Given the description of an element on the screen output the (x, y) to click on. 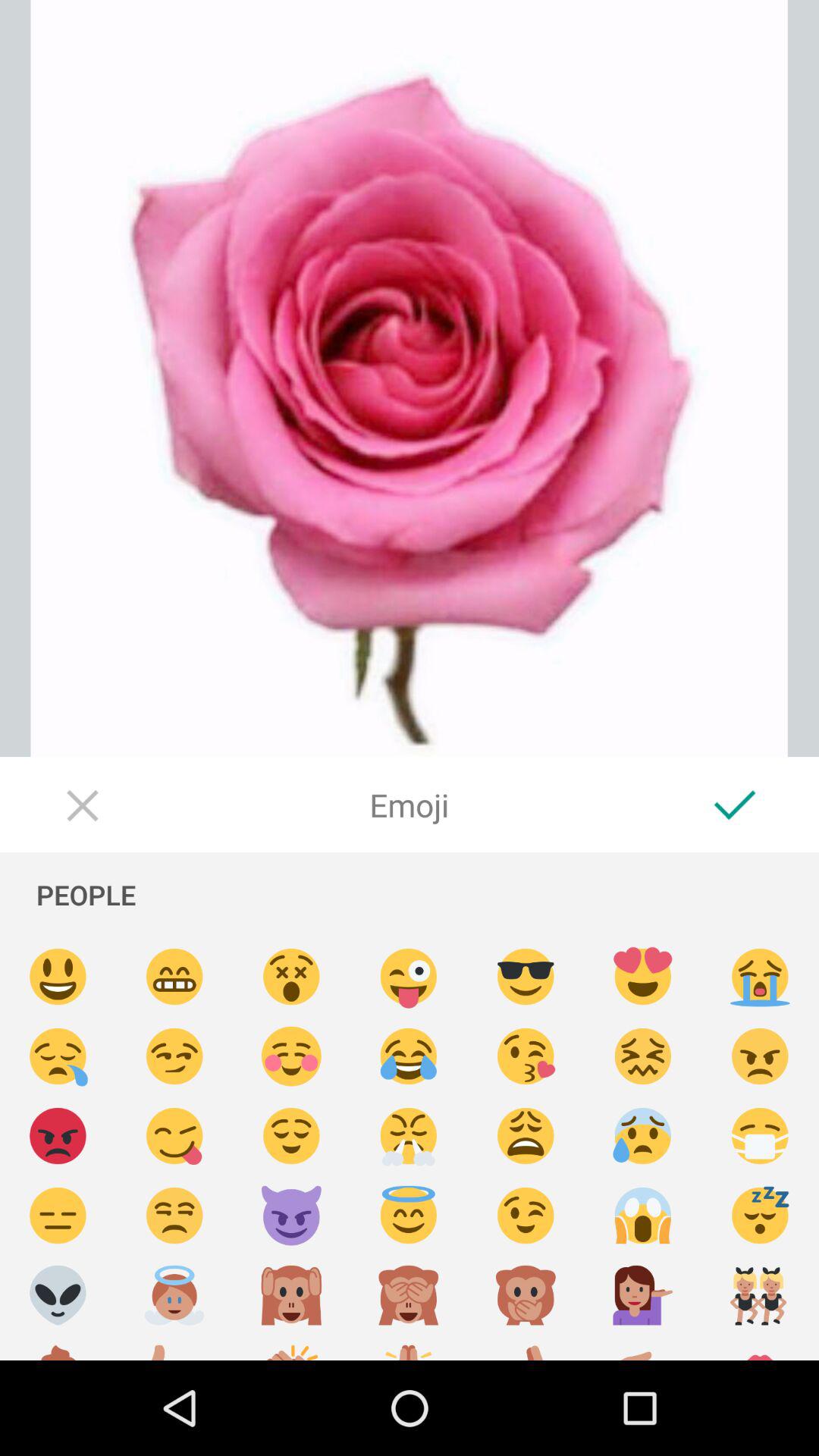
select emoji (174, 1347)
